Given the description of an element on the screen output the (x, y) to click on. 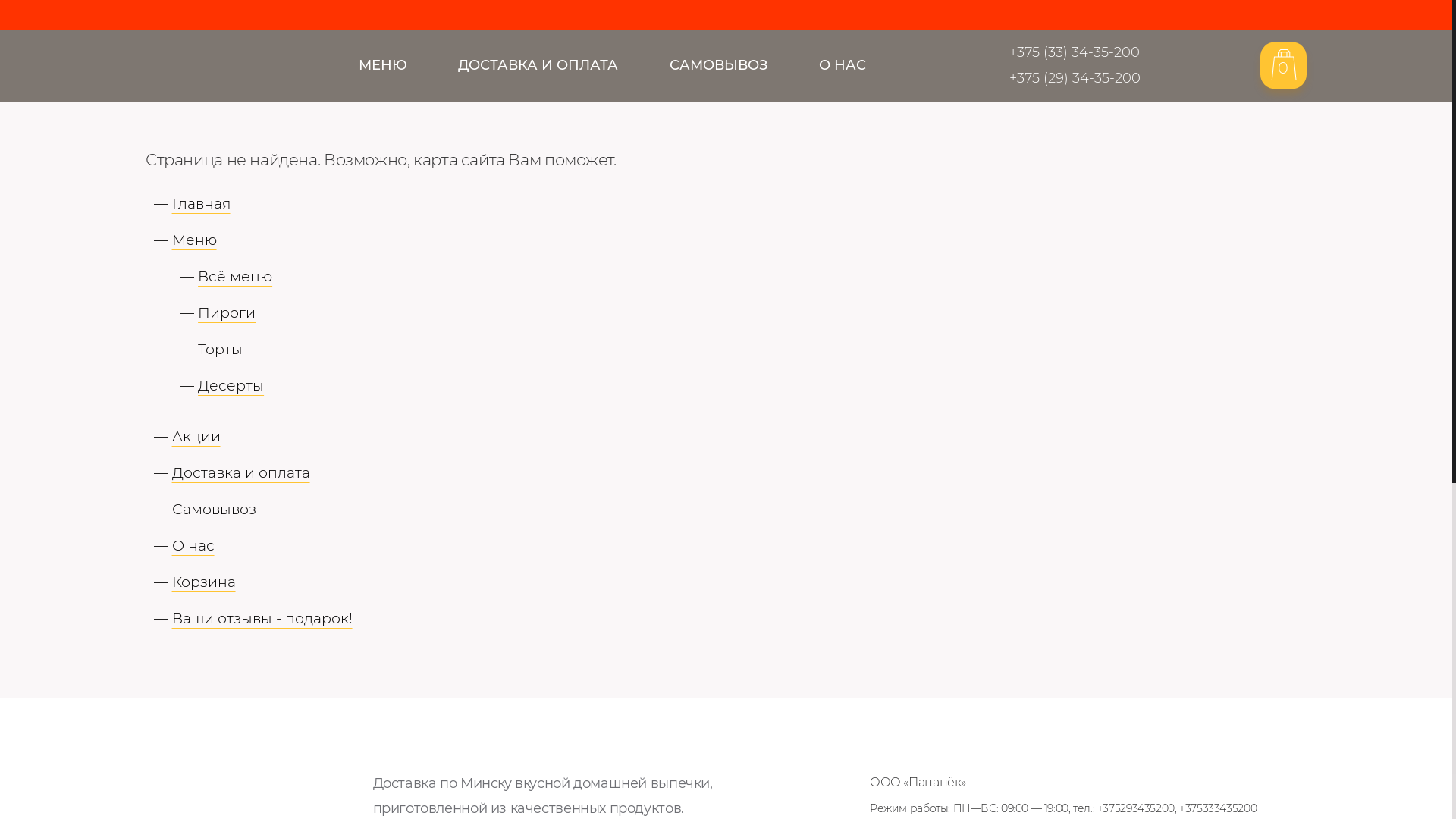
+375 (29) 34-35-200 Element type: text (1063, 78)
0 Element type: text (1283, 65)
+375 (33) 34-35-200 Element type: text (1063, 52)
